Given the description of an element on the screen output the (x, y) to click on. 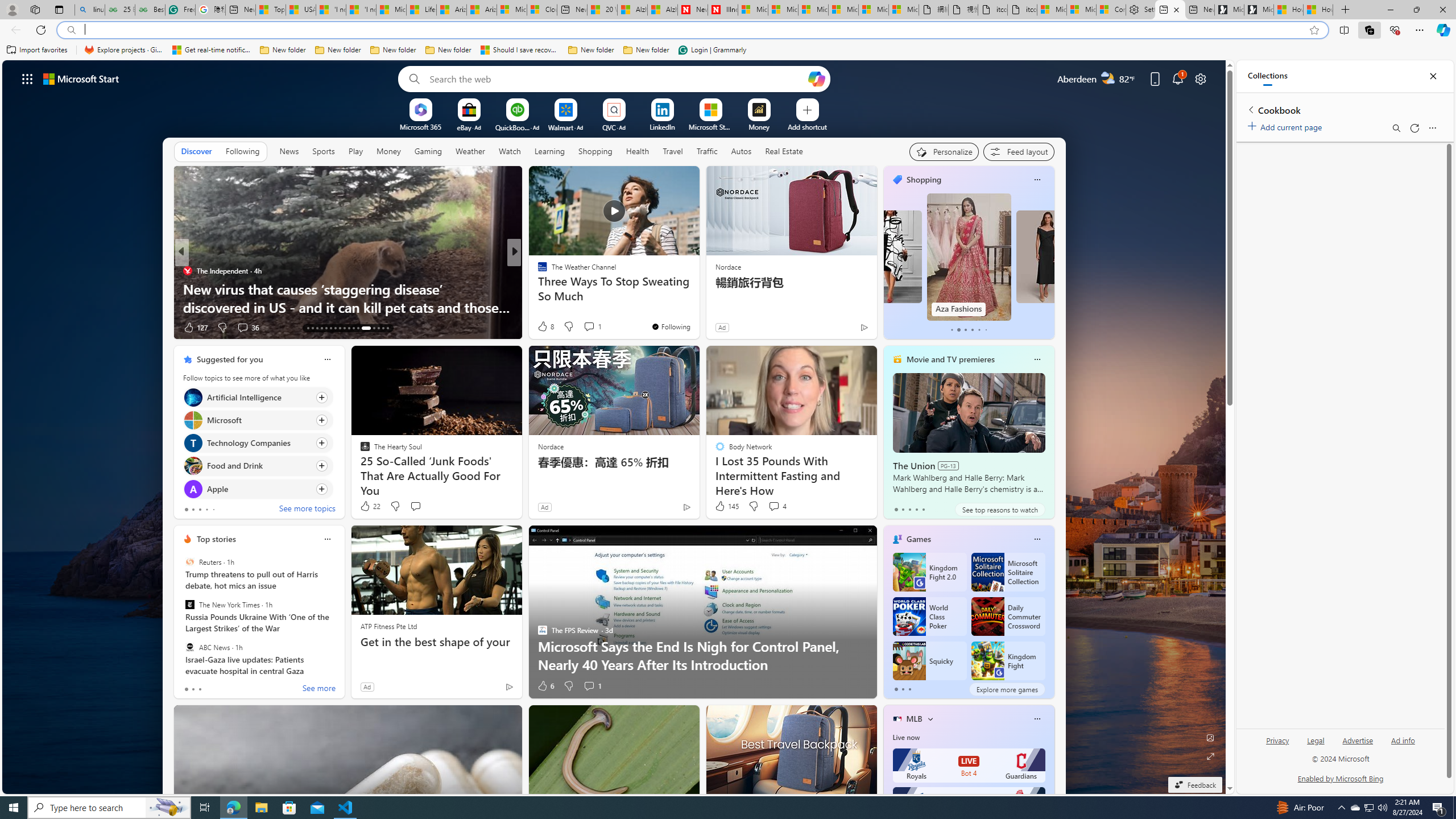
You're following The Weather Channel (670, 326)
Movie and TV premieres (949, 359)
More interests (930, 718)
Personalize your feed" (943, 151)
AutomationID: tab-18 (330, 328)
ATP Fitness Pte Ltd (388, 625)
22 Like (368, 505)
AutomationID: tab-27 (378, 328)
